Given the description of an element on the screen output the (x, y) to click on. 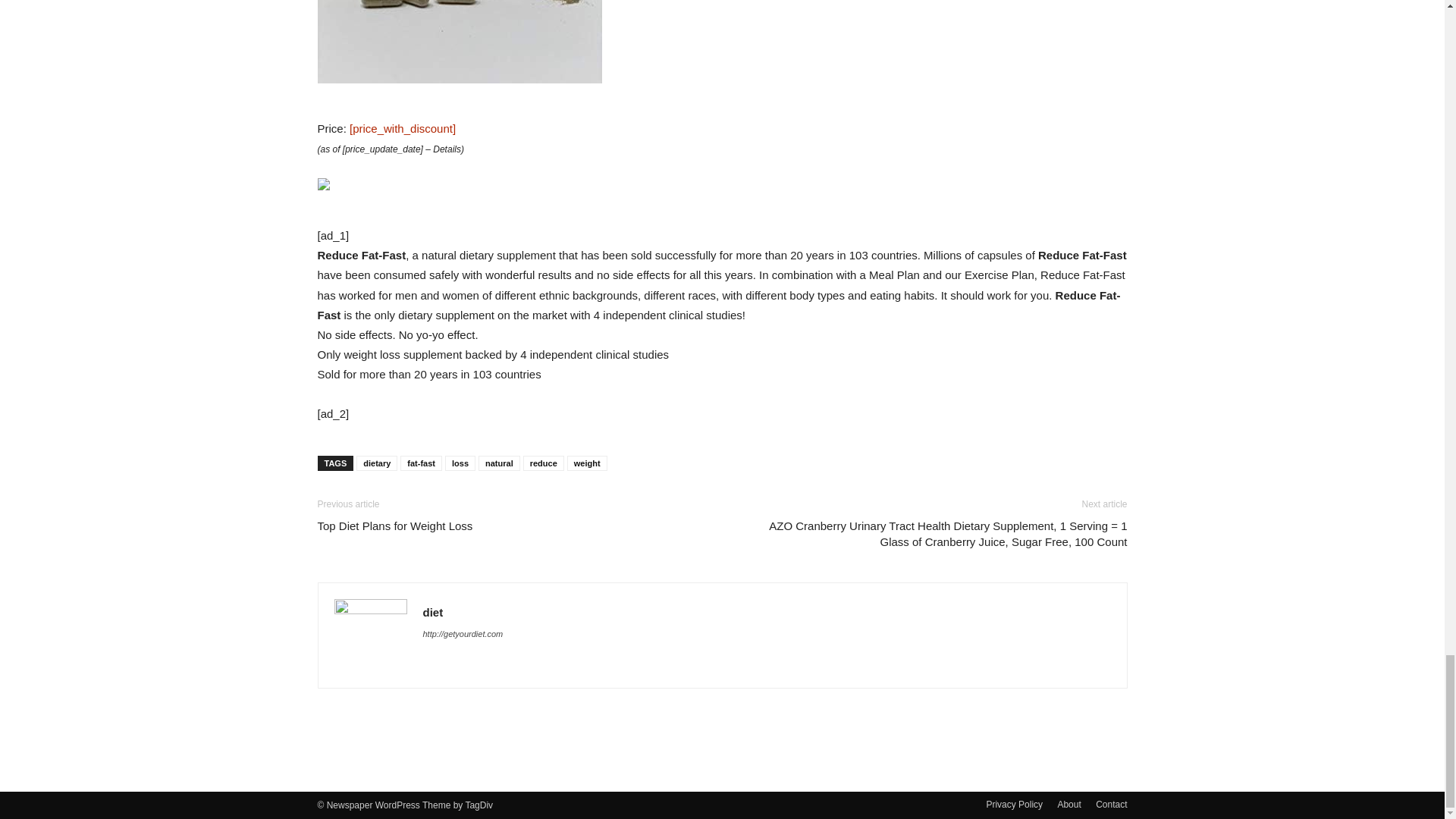
loss (460, 462)
weight (587, 462)
dietary (376, 462)
fat-fast (421, 462)
reduce (543, 462)
natural (499, 462)
